Given the description of an element on the screen output the (x, y) to click on. 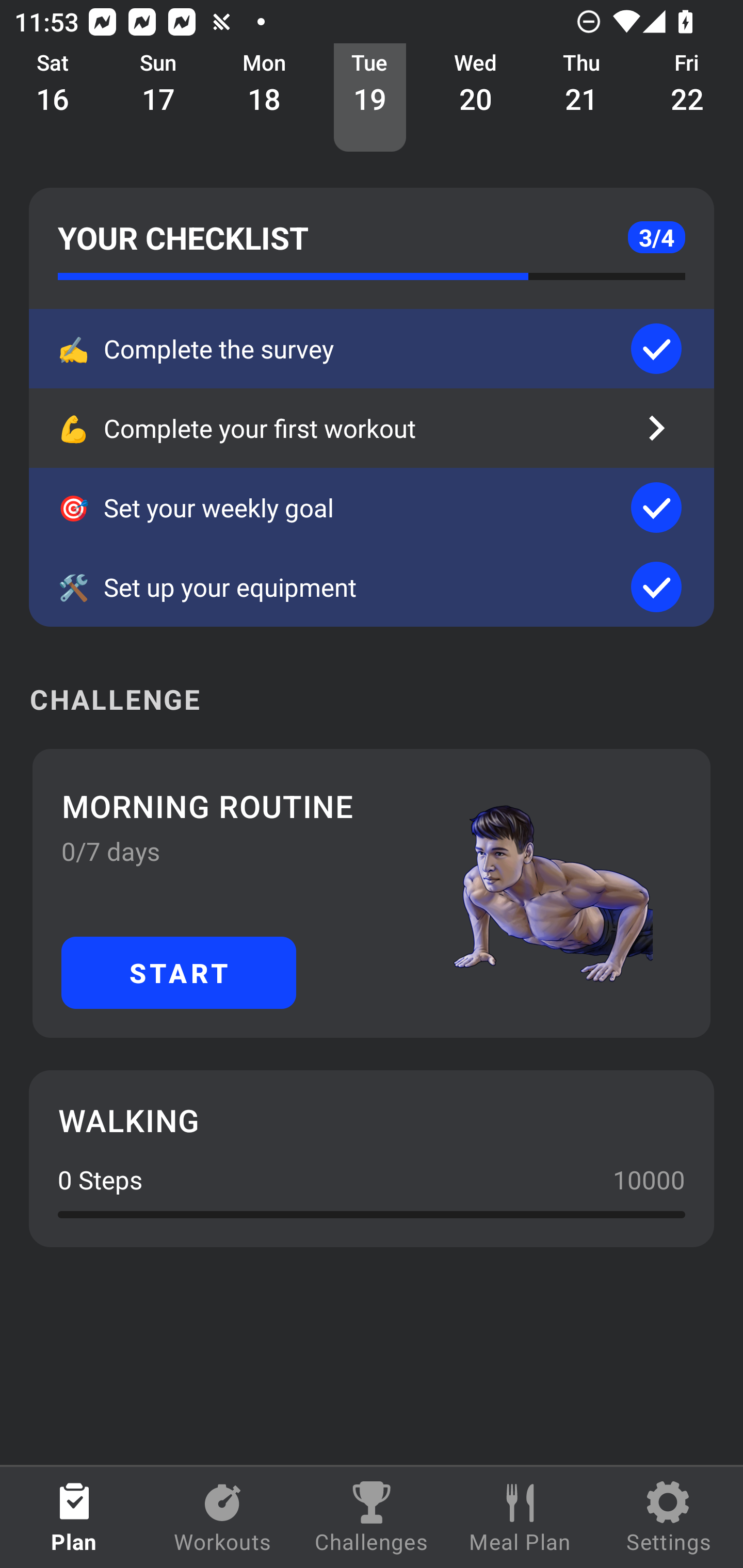
Sat 16 (52, 97)
Sun 17 (158, 97)
Mon 18 (264, 97)
Tue 19 (369, 97)
Wed 20 (475, 97)
Thu 21 (581, 97)
Fri 22 (687, 97)
💪 Complete your first workout (371, 427)
MORNING ROUTINE 0/7 days START (371, 892)
START (178, 972)
WALKING 0 Steps 10000 0.0 (371, 1158)
 Workouts  (222, 1517)
 Challenges  (371, 1517)
 Meal Plan  (519, 1517)
 Settings  (668, 1517)
